Given the description of an element on the screen output the (x, y) to click on. 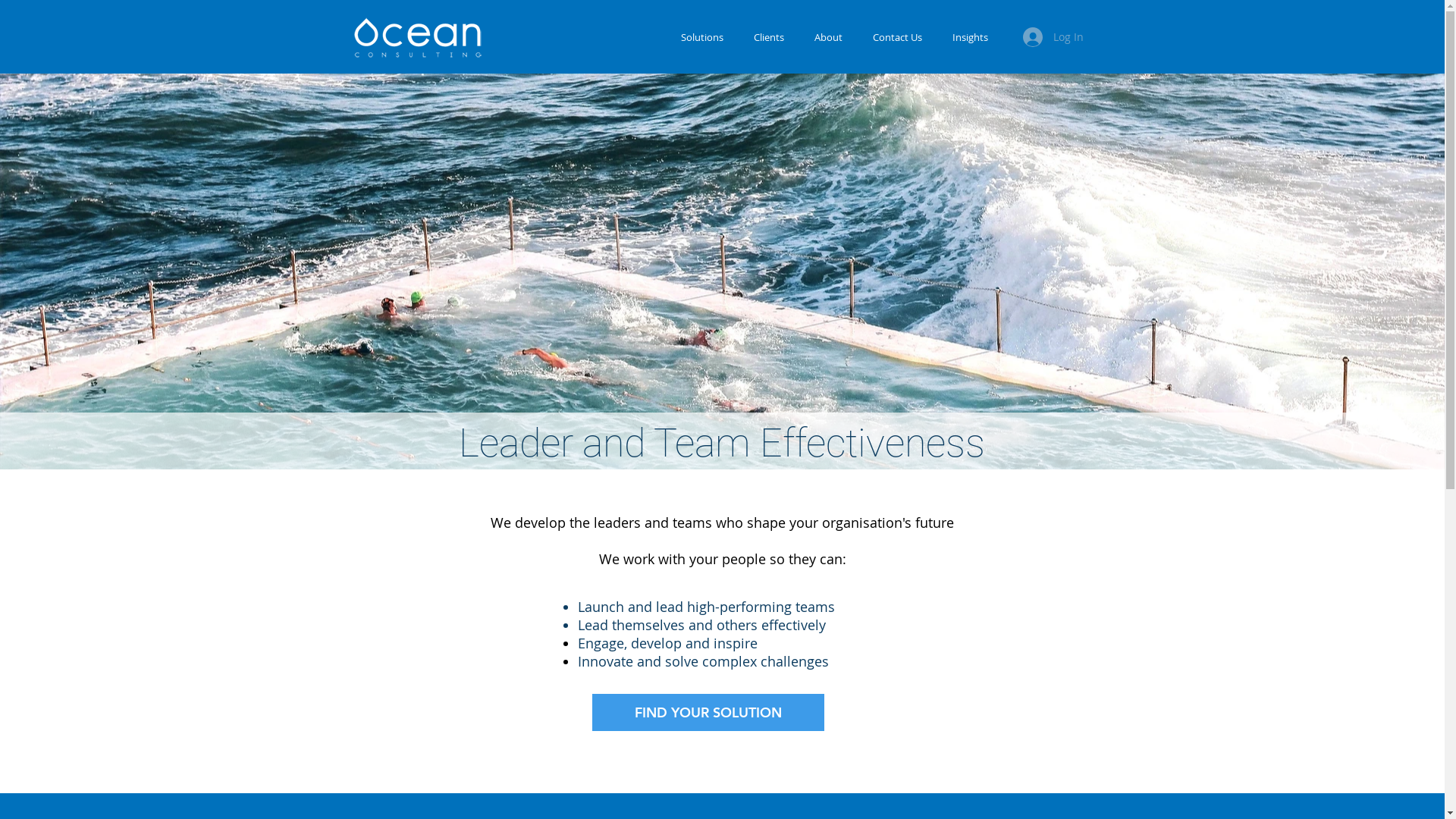
Log In Element type: text (1052, 36)
About Element type: text (828, 37)
Clients Element type: text (768, 37)
Insights Element type: text (970, 37)
Contact Us Element type: text (896, 37)
FIND YOUR SOLUTION Element type: text (707, 712)
Solutions Element type: text (701, 37)
